Given the description of an element on the screen output the (x, y) to click on. 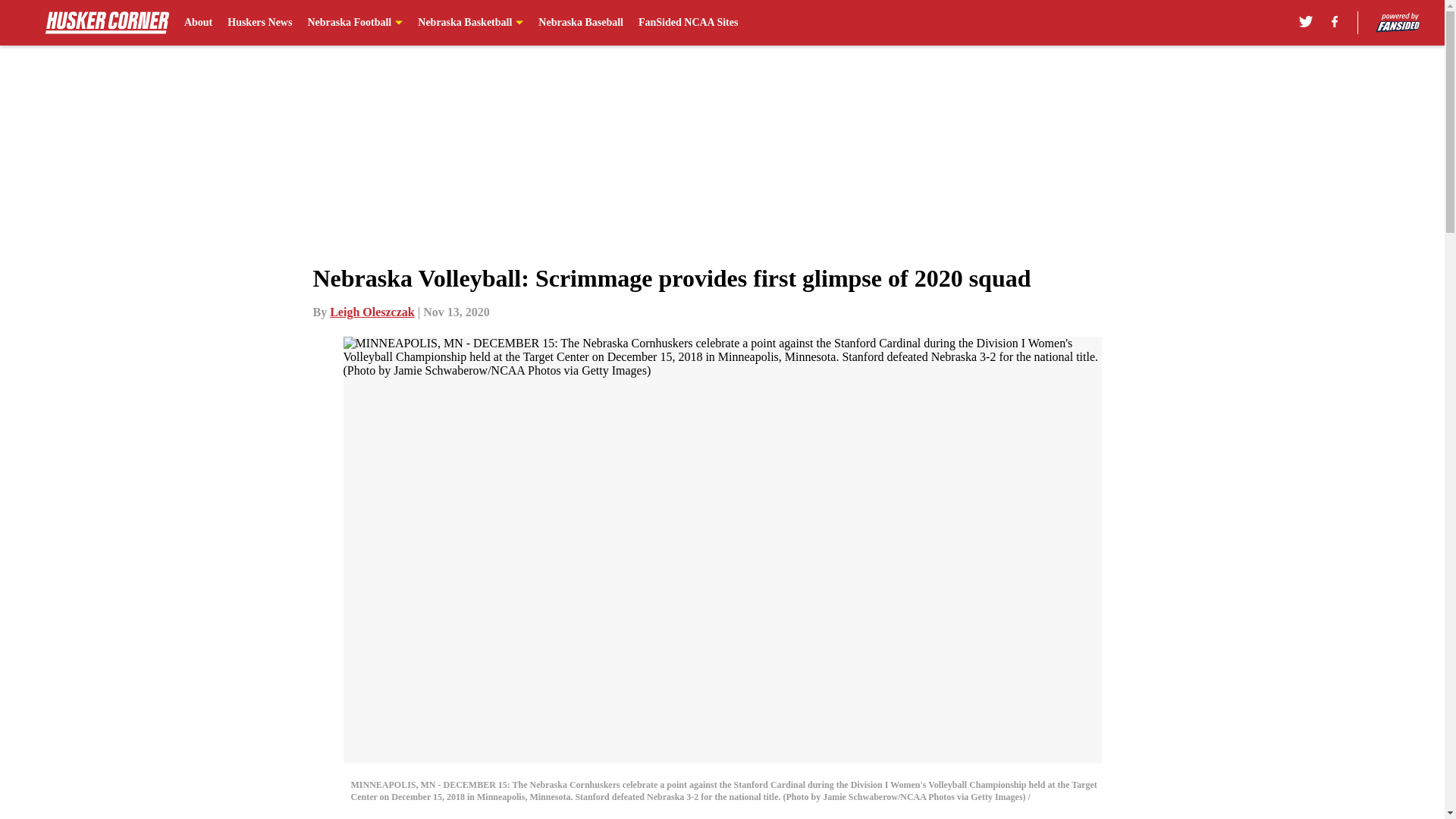
Huskers News (259, 22)
Leigh Oleszczak (372, 311)
FanSided NCAA Sites (688, 22)
Nebraska Baseball (580, 22)
About (198, 22)
